Given the description of an element on the screen output the (x, y) to click on. 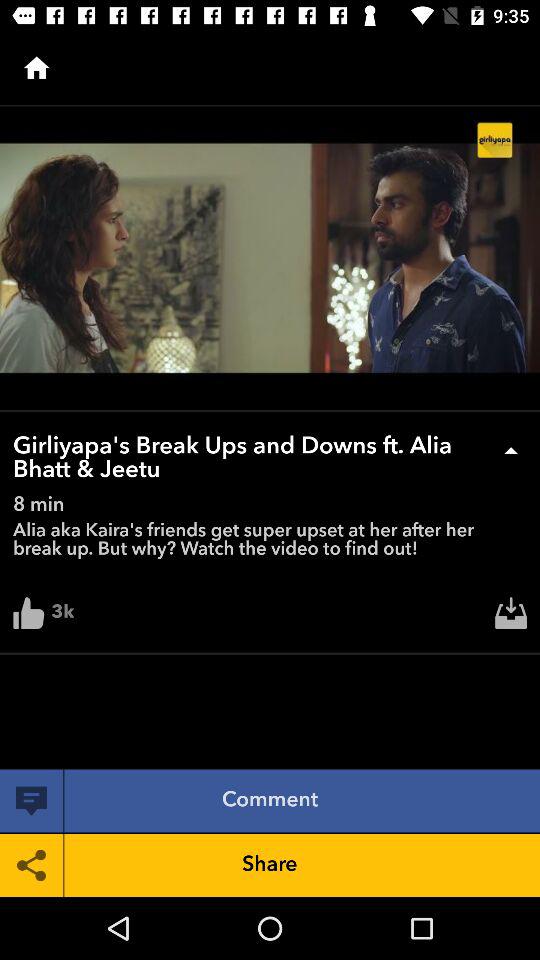
choose item below the alia aka kaira item (511, 618)
